Given the description of an element on the screen output the (x, y) to click on. 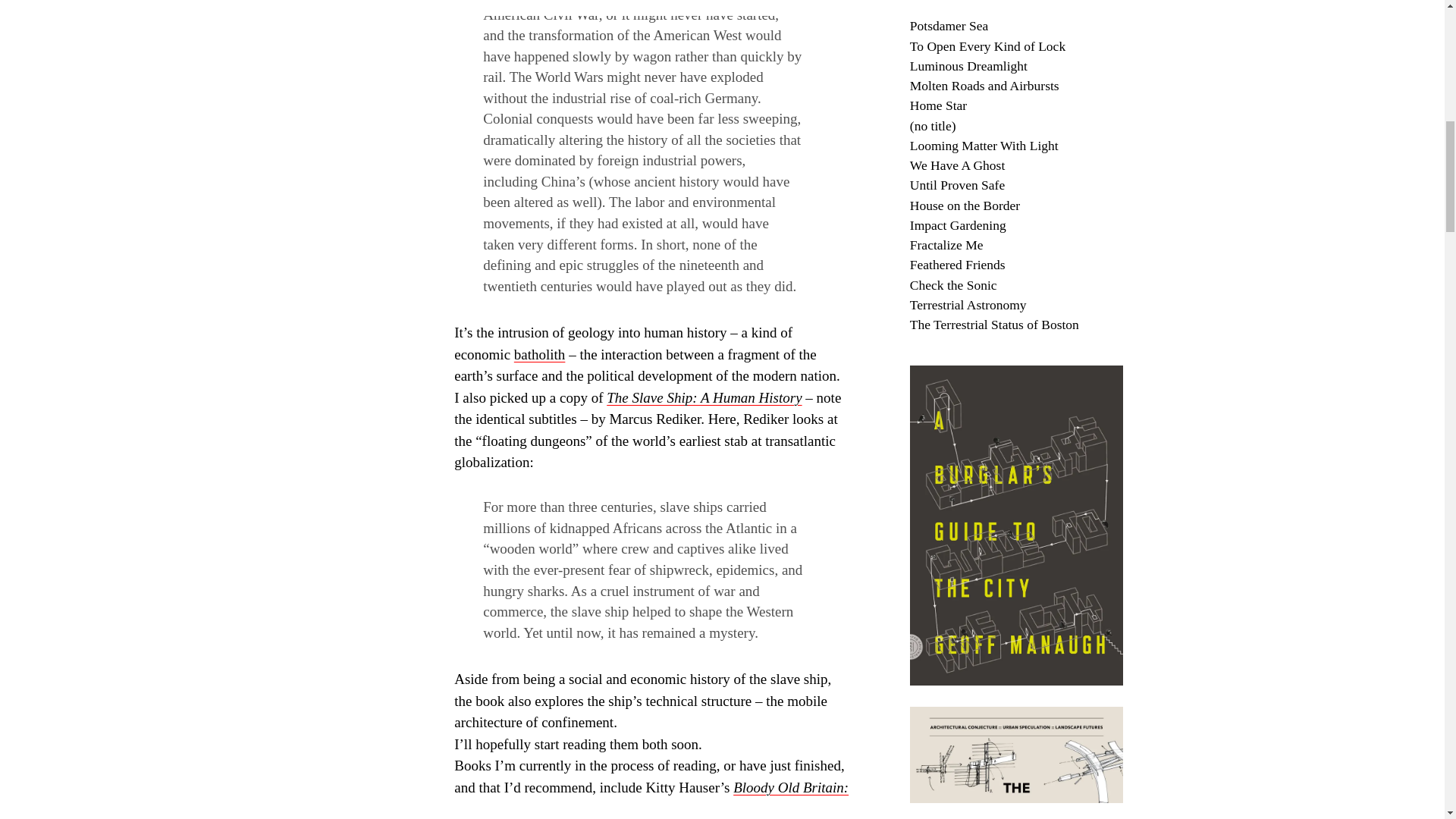
The Slave Ship: A Human History (704, 397)
batholith (539, 354)
